Given the description of an element on the screen output the (x, y) to click on. 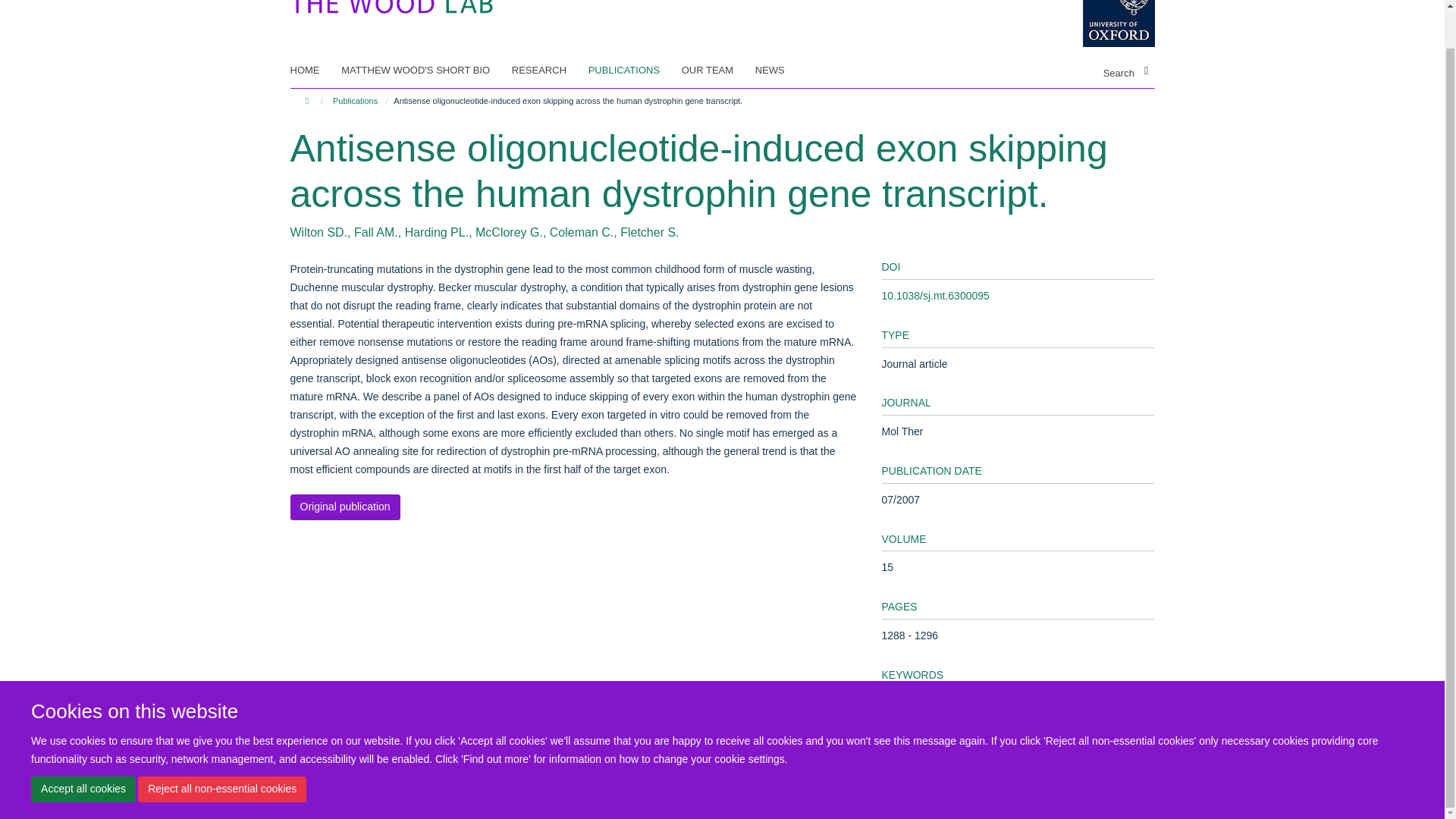
MATTHEW WOOD'S SHORT BIO (424, 69)
OUR TEAM (716, 69)
HOME (313, 69)
Reject all non-essential cookies (221, 749)
University of Oxford (1106, 23)
Matthew Woods Group (391, 2)
Accept all cookies (82, 749)
PUBLICATIONS (633, 69)
NEWS (779, 69)
RESEARCH (548, 69)
